Given the description of an element on the screen output the (x, y) to click on. 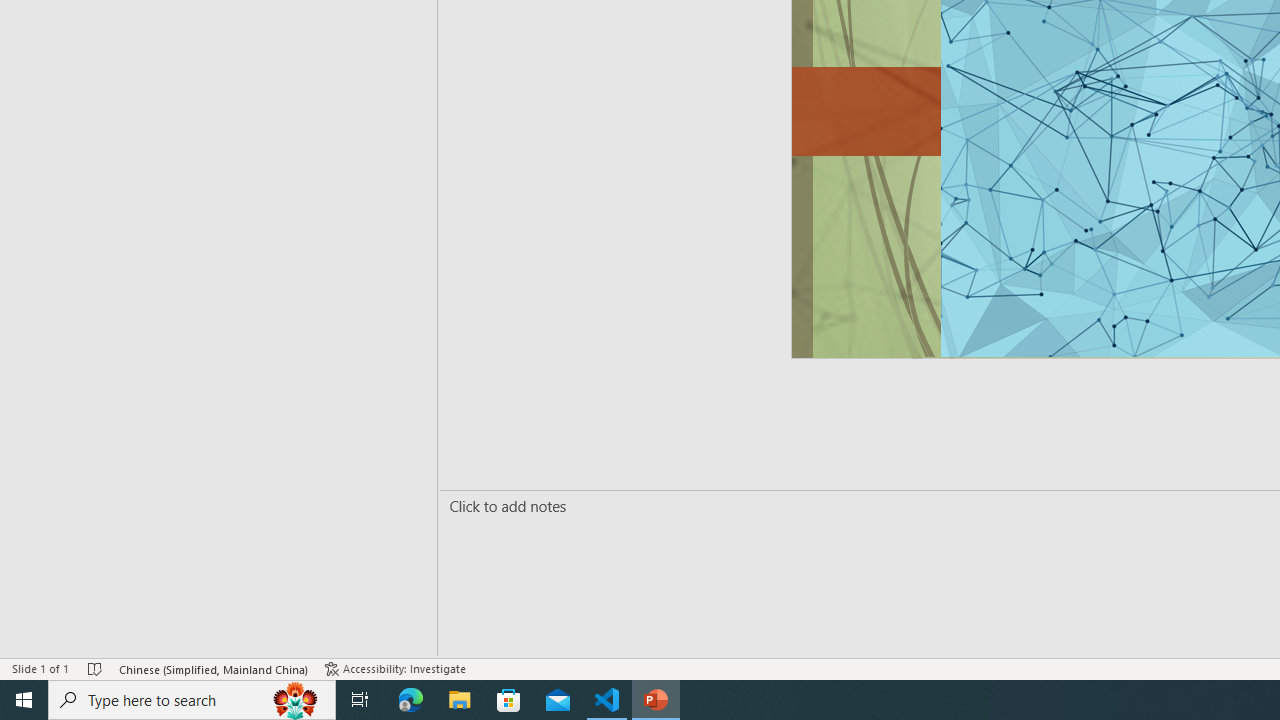
Spell Check No Errors (95, 668)
Accessibility Checker Accessibility: Investigate (395, 668)
